Given the description of an element on the screen output the (x, y) to click on. 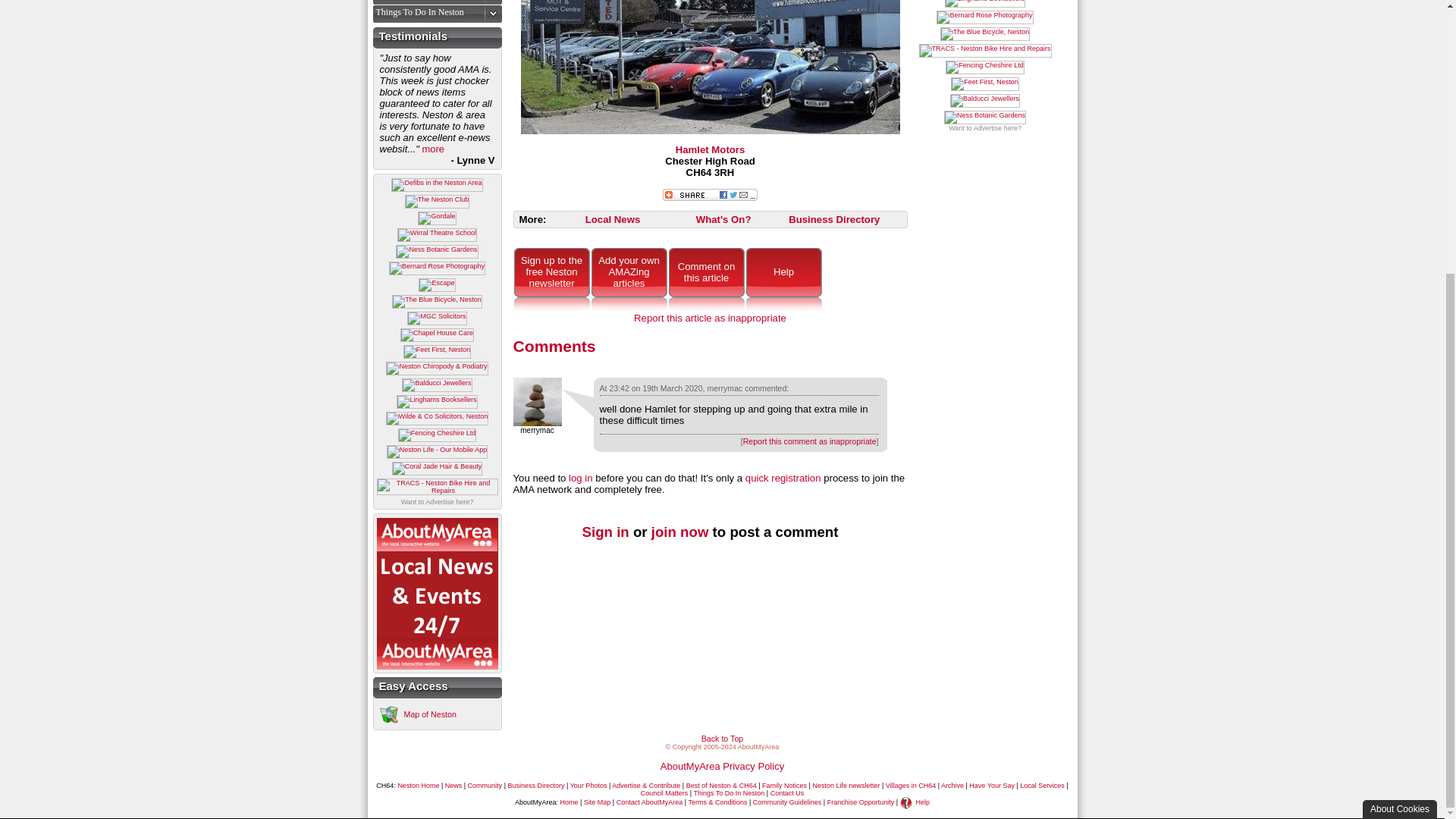
The Blue Bicycle, Neston (436, 301)
Feet First, Neston (437, 351)
Fencing Cheshire Ltd (437, 435)
Defibs in the Neston Area (436, 184)
Gordale  (436, 218)
Escape (436, 284)
Ness Botanic Gardens (436, 251)
Neston Life - Our Mobile App (437, 451)
Linghams Booksellers (436, 401)
Bernard Rose Photography (436, 268)
The Neston Club (437, 201)
Wirral Theatre School (437, 234)
Balducci Jewellers (436, 385)
MGC Solicitors (436, 318)
Chapel House Care (437, 335)
